Given the description of an element on the screen output the (x, y) to click on. 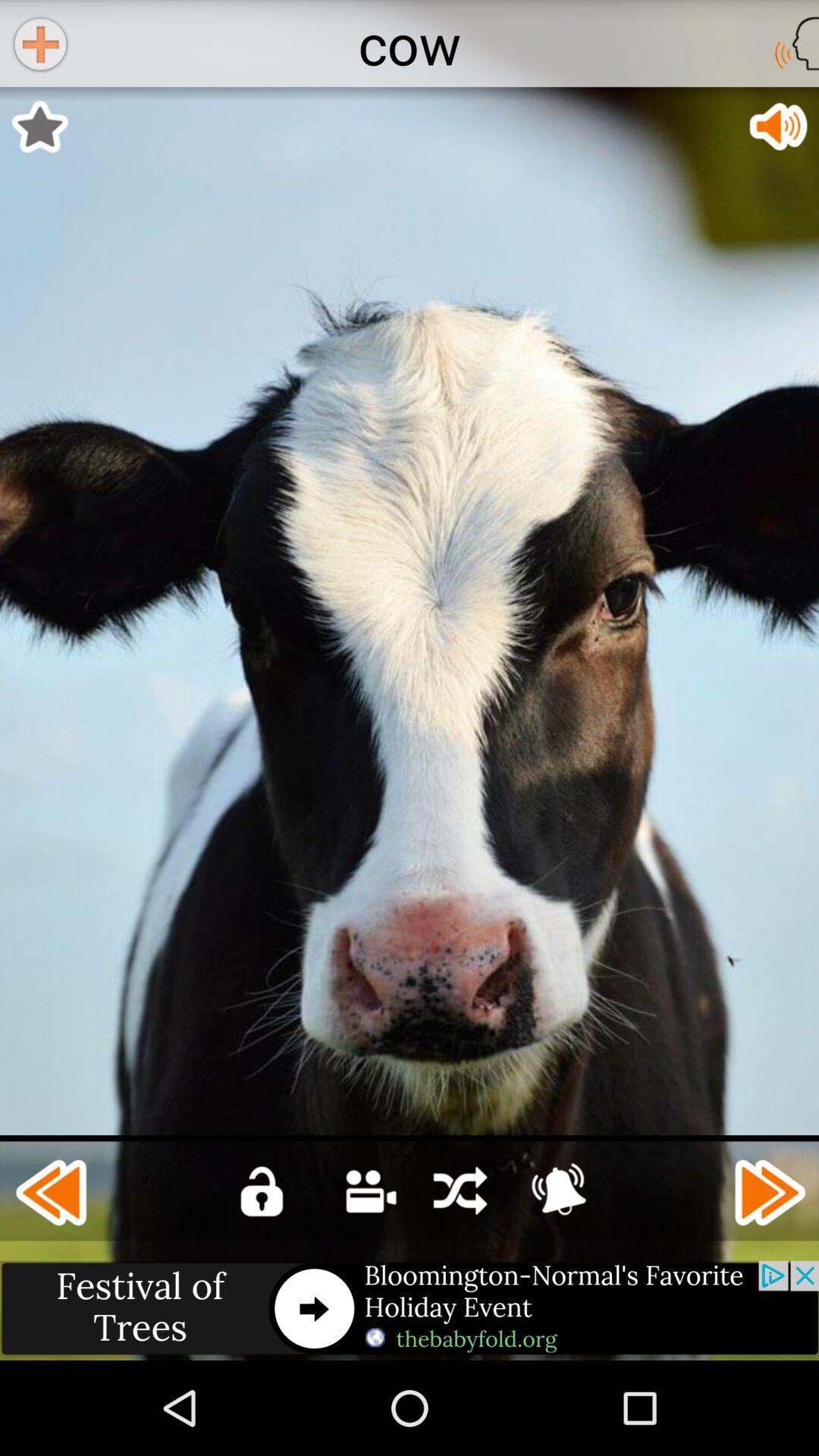
turn on the icon below the cow (39, 126)
